Given the description of an element on the screen output the (x, y) to click on. 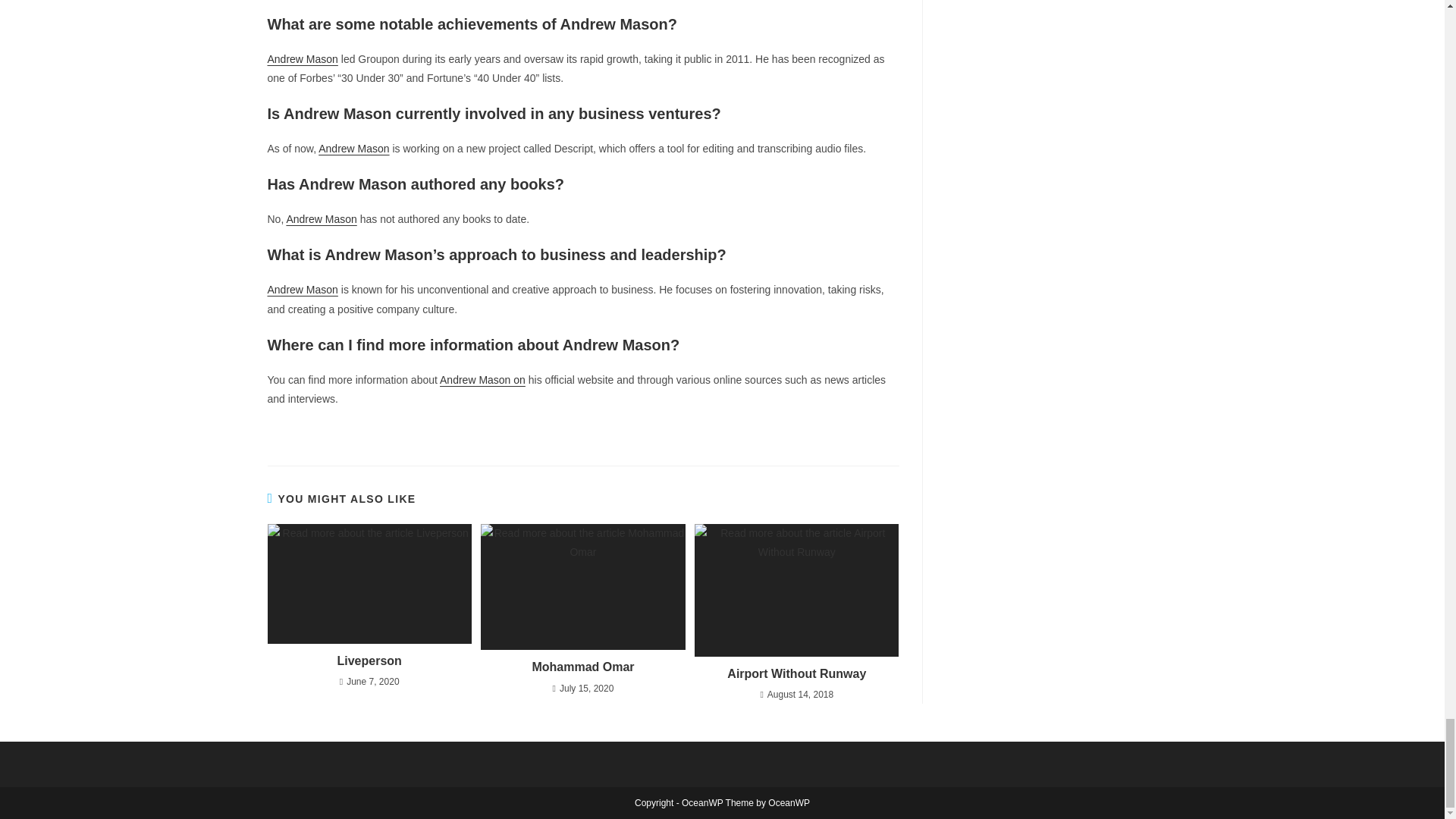
Andrew Mason (301, 59)
Andrew Mason (353, 148)
Liveperson (368, 660)
Mohammad Omar (582, 667)
Andrew Mason on (482, 379)
Andrew Mason (320, 218)
Airport Without Runway (796, 673)
Andrew Mason (301, 289)
